Given the description of an element on the screen output the (x, y) to click on. 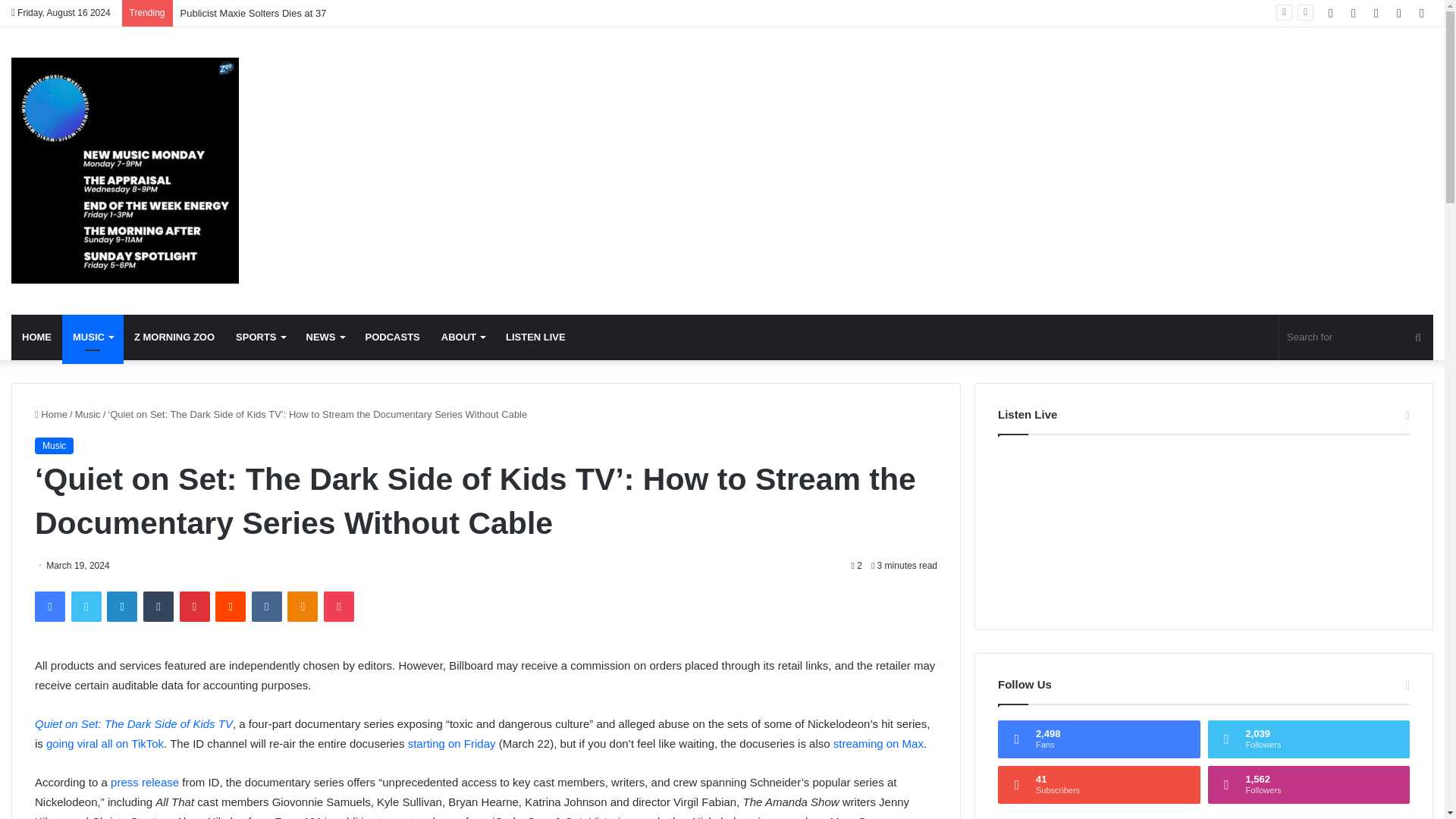
NEWS (325, 337)
Music (87, 414)
VKontakte (266, 606)
Music (124, 170)
Tumblr (157, 606)
Facebook (49, 606)
HOME (36, 337)
Pinterest (194, 606)
Odnoklassniki (301, 606)
Pocket (338, 606)
